Given the description of an element on the screen output the (x, y) to click on. 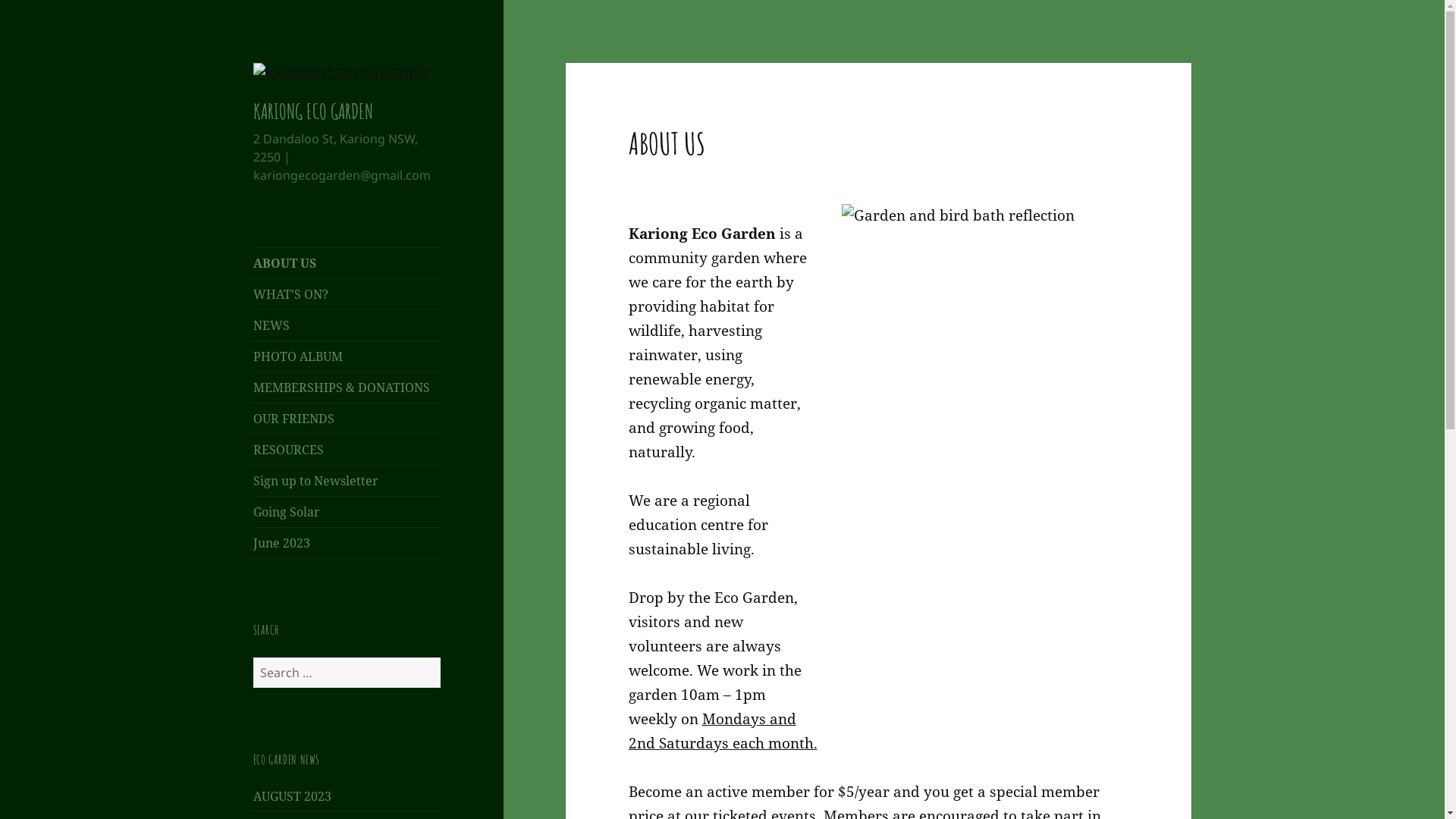
Search Element type: text (439, 656)
RESOURCES Element type: text (347, 449)
KARIONG ECO GARDEN Element type: text (313, 111)
NEWS Element type: text (347, 325)
AUGUST 2023 Element type: text (292, 795)
PHOTO ALBUM Element type: text (347, 356)
Going Solar Element type: text (347, 511)
Sign up to Newsletter Element type: text (347, 480)
MEMBERSHIPS & DONATIONS Element type: text (347, 387)
June 2023 Element type: text (347, 542)
OUR FRIENDS Element type: text (347, 418)
ABOUT US Element type: text (347, 262)
